Given the description of an element on the screen output the (x, y) to click on. 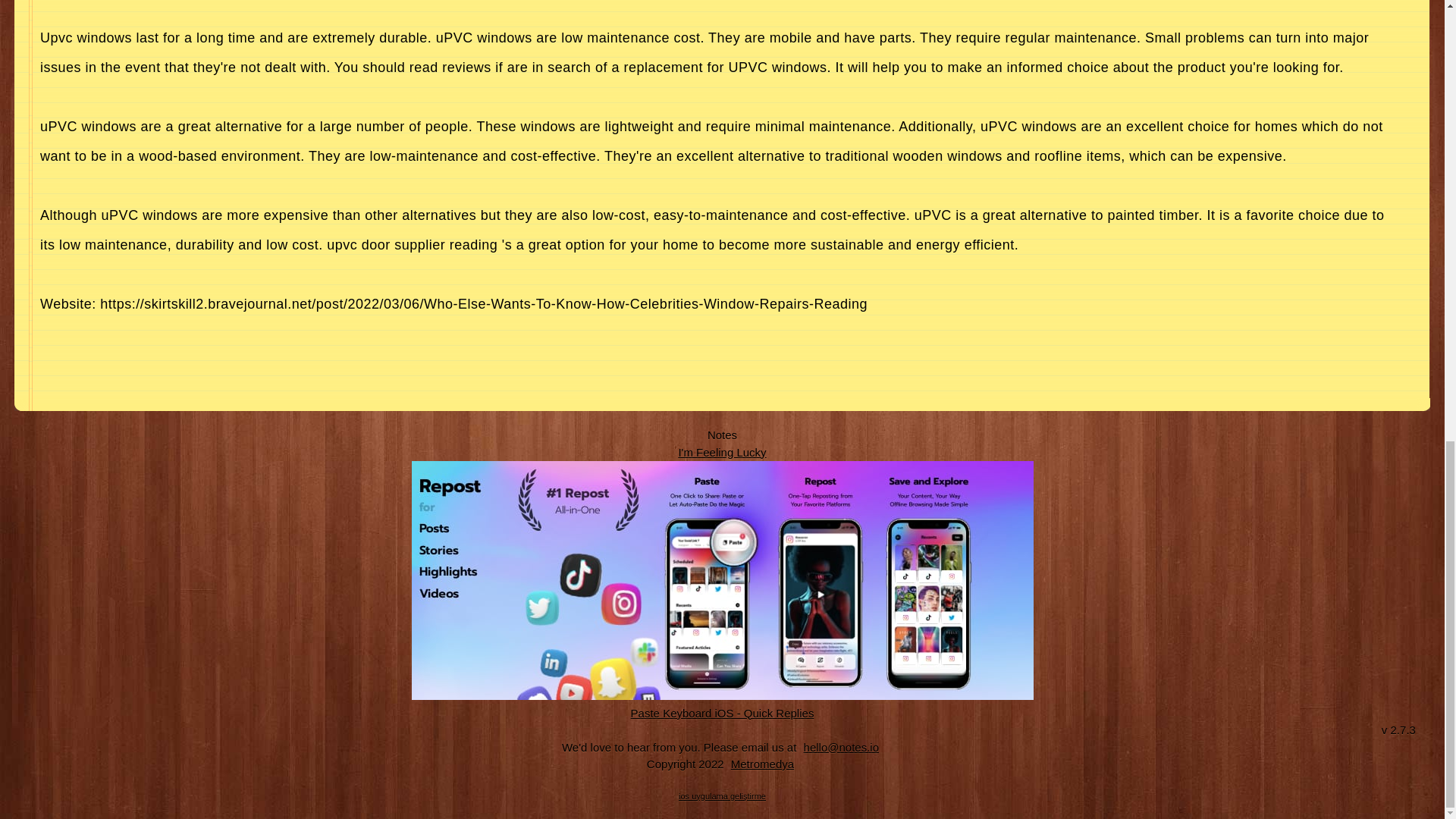
I'm Feeling Lucky (722, 451)
Feeling Luck (722, 451)
Quick Replies iOS App Web Site (722, 712)
Paste Keyboard iOS - Quick Replies (722, 712)
Metromedya (761, 763)
